Given the description of an element on the screen output the (x, y) to click on. 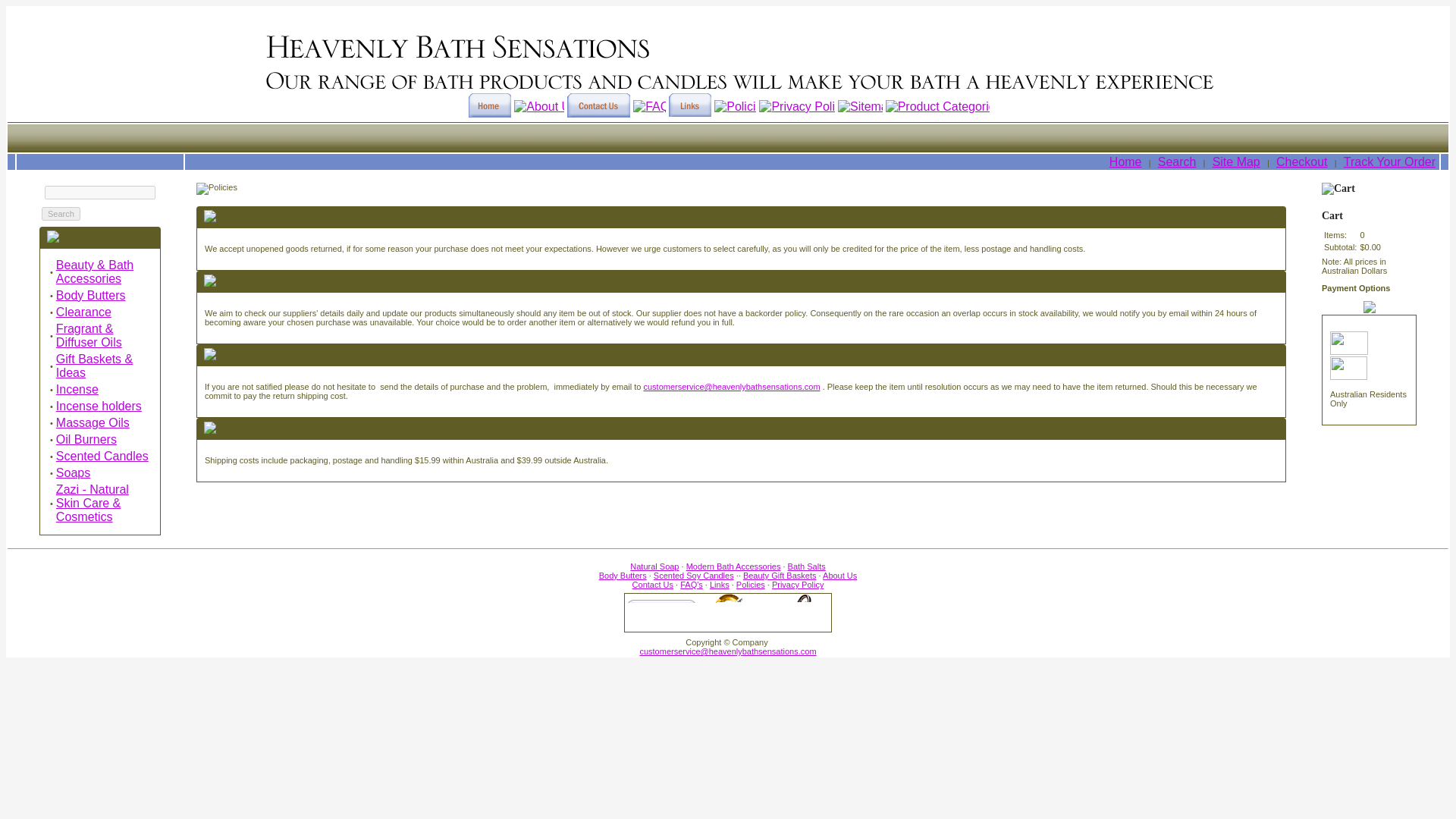
Links (719, 583)
About Us (839, 574)
Scented Candles (102, 455)
Checkout (1301, 161)
Site Map (1236, 161)
Body Butters (622, 574)
Beauty Gift Baskets (779, 574)
FAQ's (691, 583)
Policies (750, 583)
Natural Soap (654, 565)
